Given the description of an element on the screen output the (x, y) to click on. 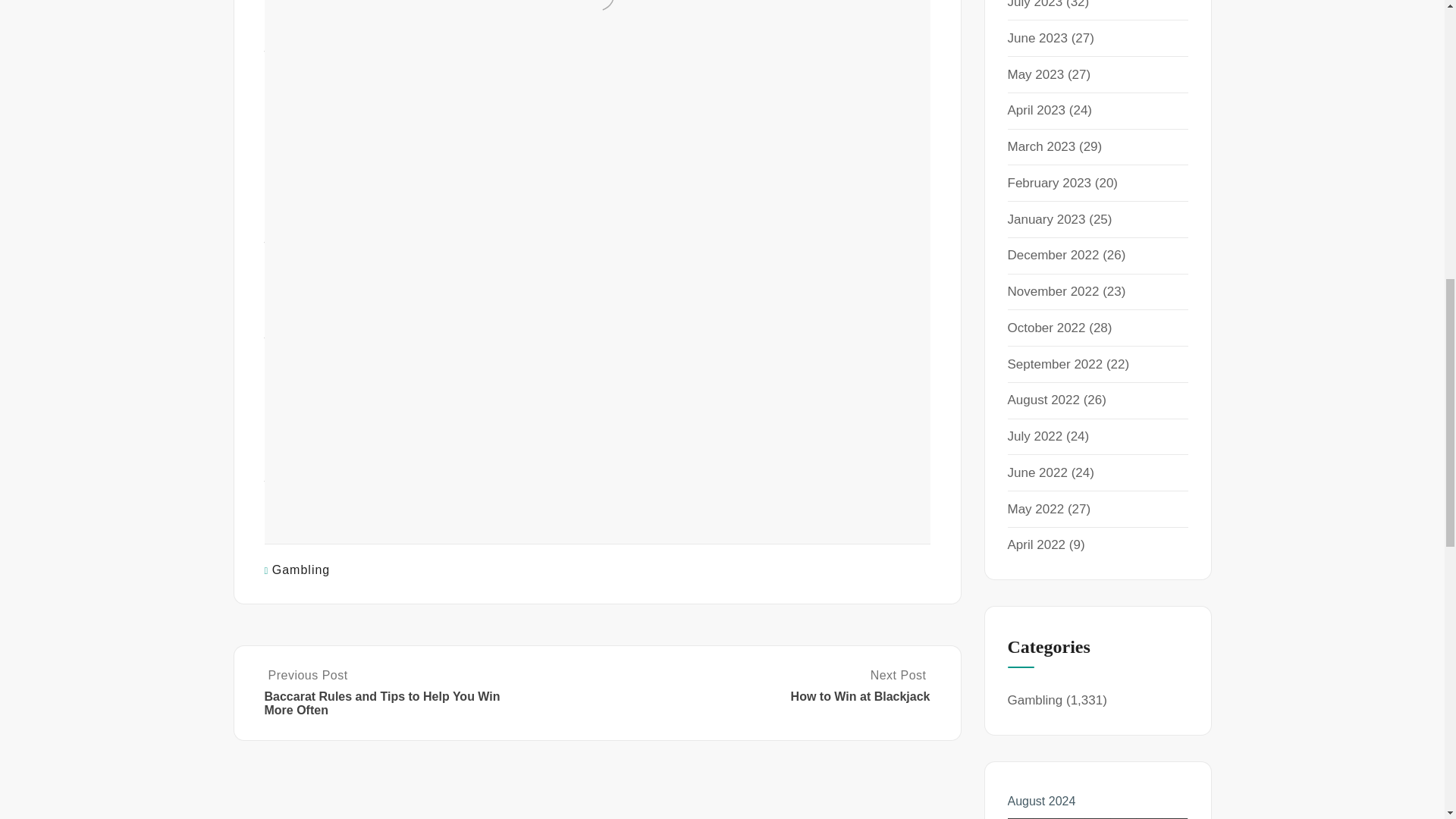
December 2022 (1053, 255)
October 2022 (1045, 327)
April 2023 (1036, 110)
November 2022 (1053, 291)
July 2023 (1034, 4)
January 2023 (1045, 219)
May 2023 (1035, 74)
March 2023 (1041, 146)
